Given the description of an element on the screen output the (x, y) to click on. 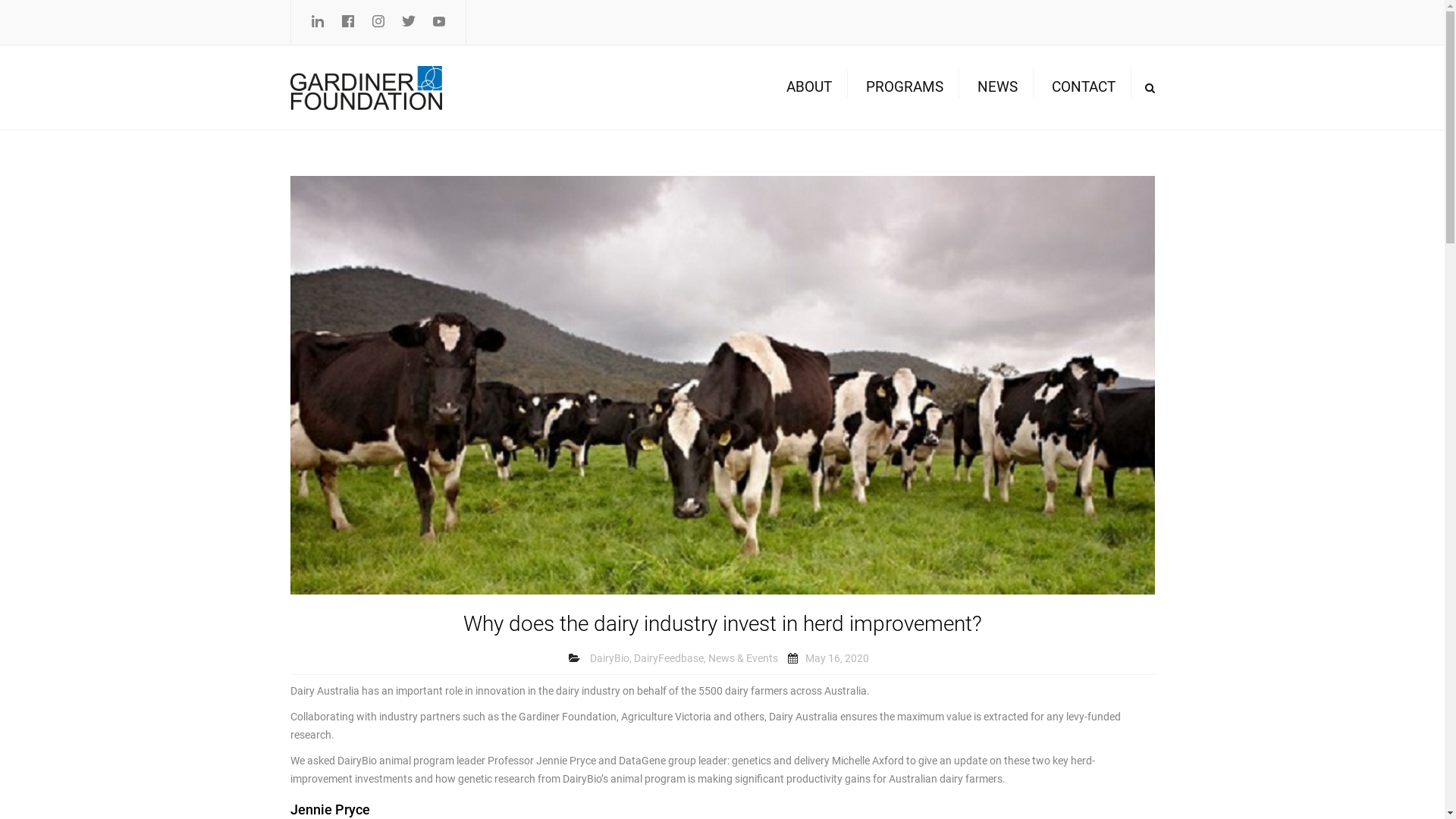
ABOUT Element type: text (808, 86)
NEWS Element type: text (996, 86)
DairyFeedbase Element type: text (668, 658)
Search Element type: text (1149, 87)
DairyBio Element type: text (609, 658)
News & Events Element type: text (743, 658)
CONTACT Element type: text (1082, 86)
PROGRAMS Element type: text (904, 86)
